Given the description of an element on the screen output the (x, y) to click on. 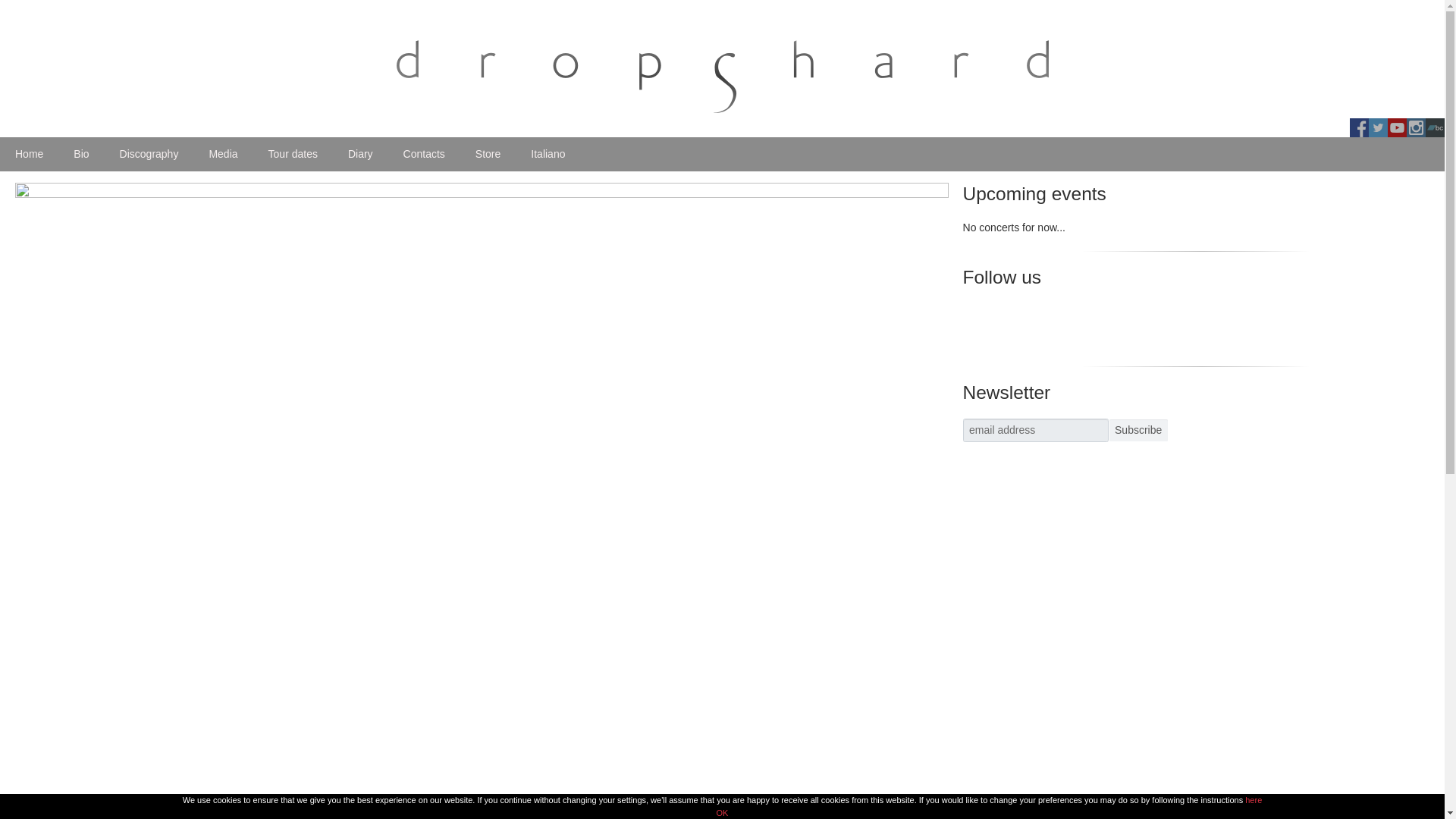
Dropshard on Facebook (1358, 127)
Diary (360, 154)
Home (29, 154)
Dropshard on Twitter (1377, 127)
Dropshard on Youtube (1396, 127)
Home page (29, 154)
Tour dates (293, 154)
Subscribe (1138, 430)
Bio (80, 154)
Discography (148, 154)
Store (487, 154)
Media (222, 154)
Italiano (547, 154)
Subscribe (1138, 430)
Dropshard on Instagram (1415, 127)
